Given the description of an element on the screen output the (x, y) to click on. 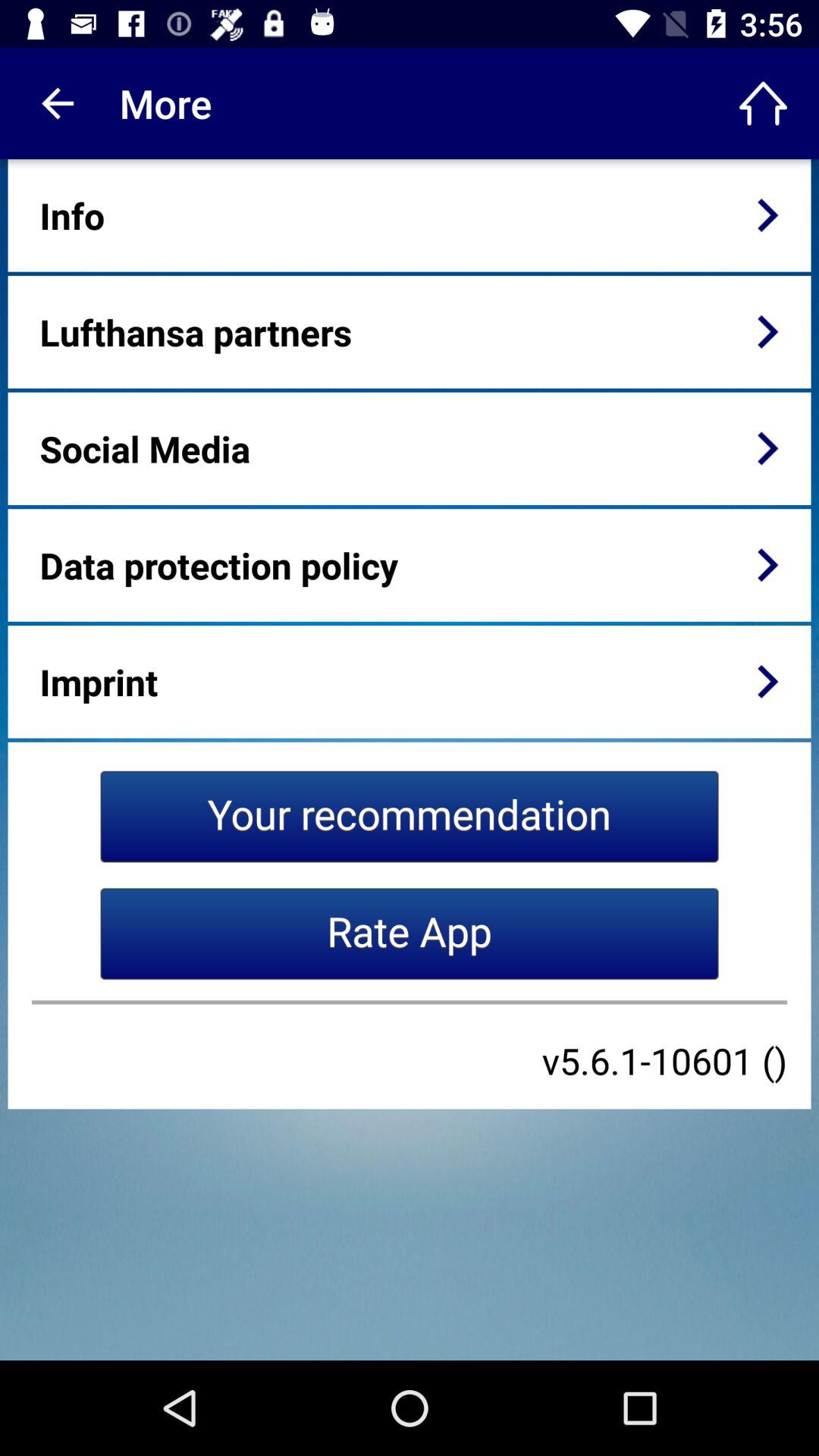
choose imprint (98, 681)
